Given the description of an element on the screen output the (x, y) to click on. 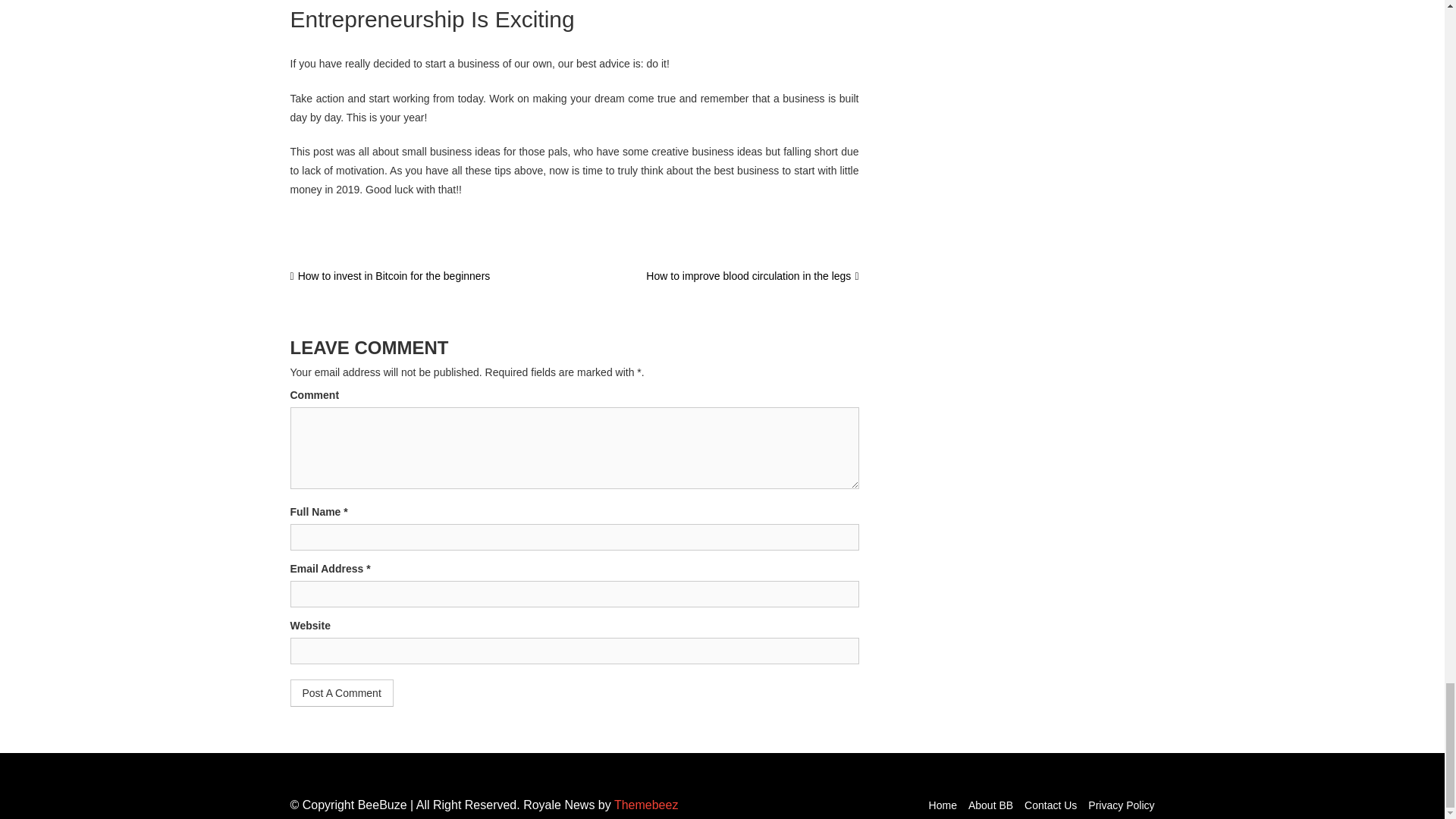
Post A Comment (341, 692)
